Given the description of an element on the screen output the (x, y) to click on. 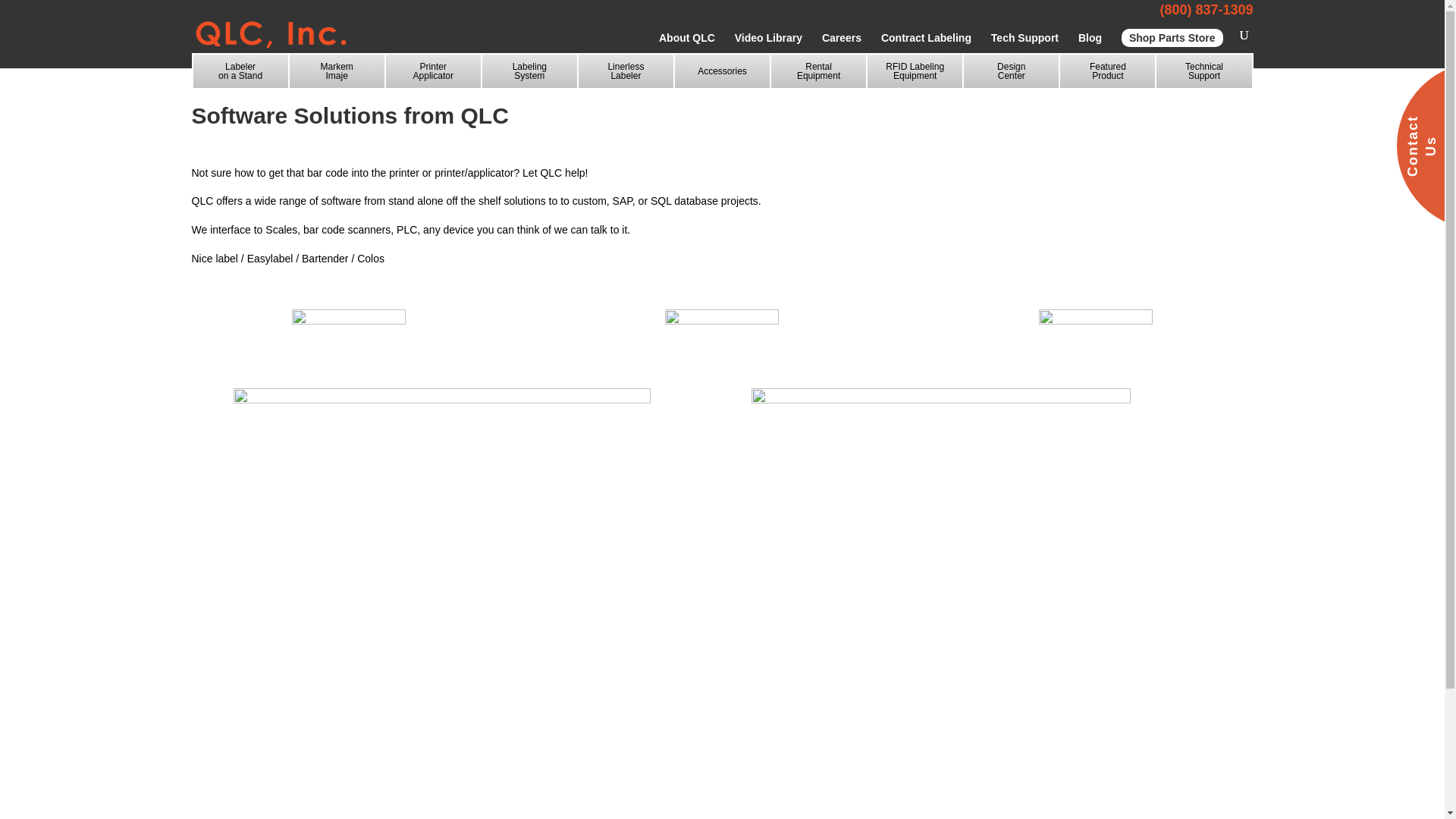
Careers (841, 49)
Accessories (722, 70)
Blog (1090, 49)
Tech Support (818, 70)
Contract Labeling (1024, 49)
Video Library (336, 70)
